Given the description of an element on the screen output the (x, y) to click on. 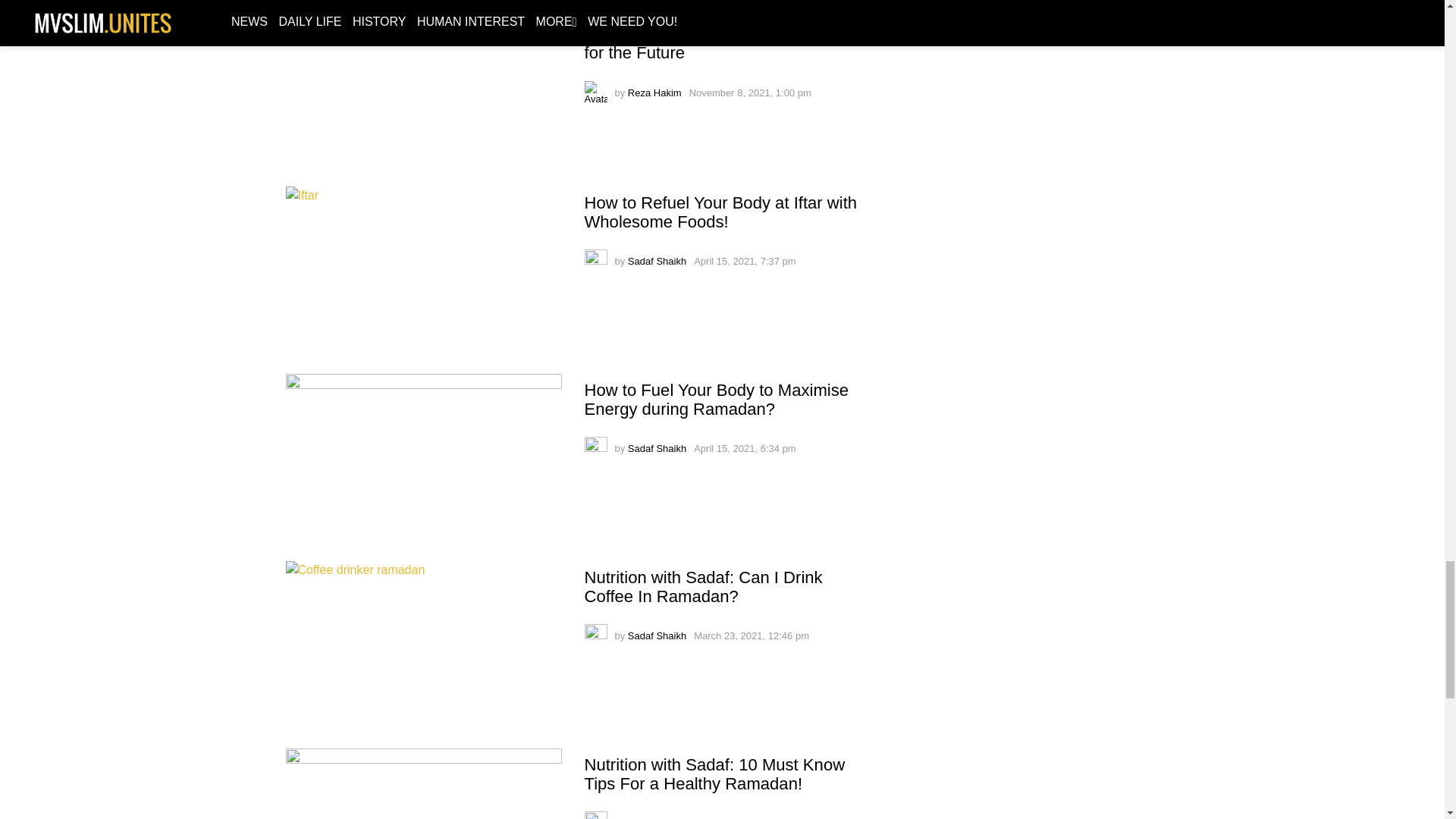
Posts by Reza Hakim (654, 92)
Posts by Sadaf Shaikh (656, 818)
Posts by Sadaf Shaikh (656, 448)
Posts by Sadaf Shaikh (656, 635)
Posts by Sadaf Shaikh (656, 260)
